Given the description of an element on the screen output the (x, y) to click on. 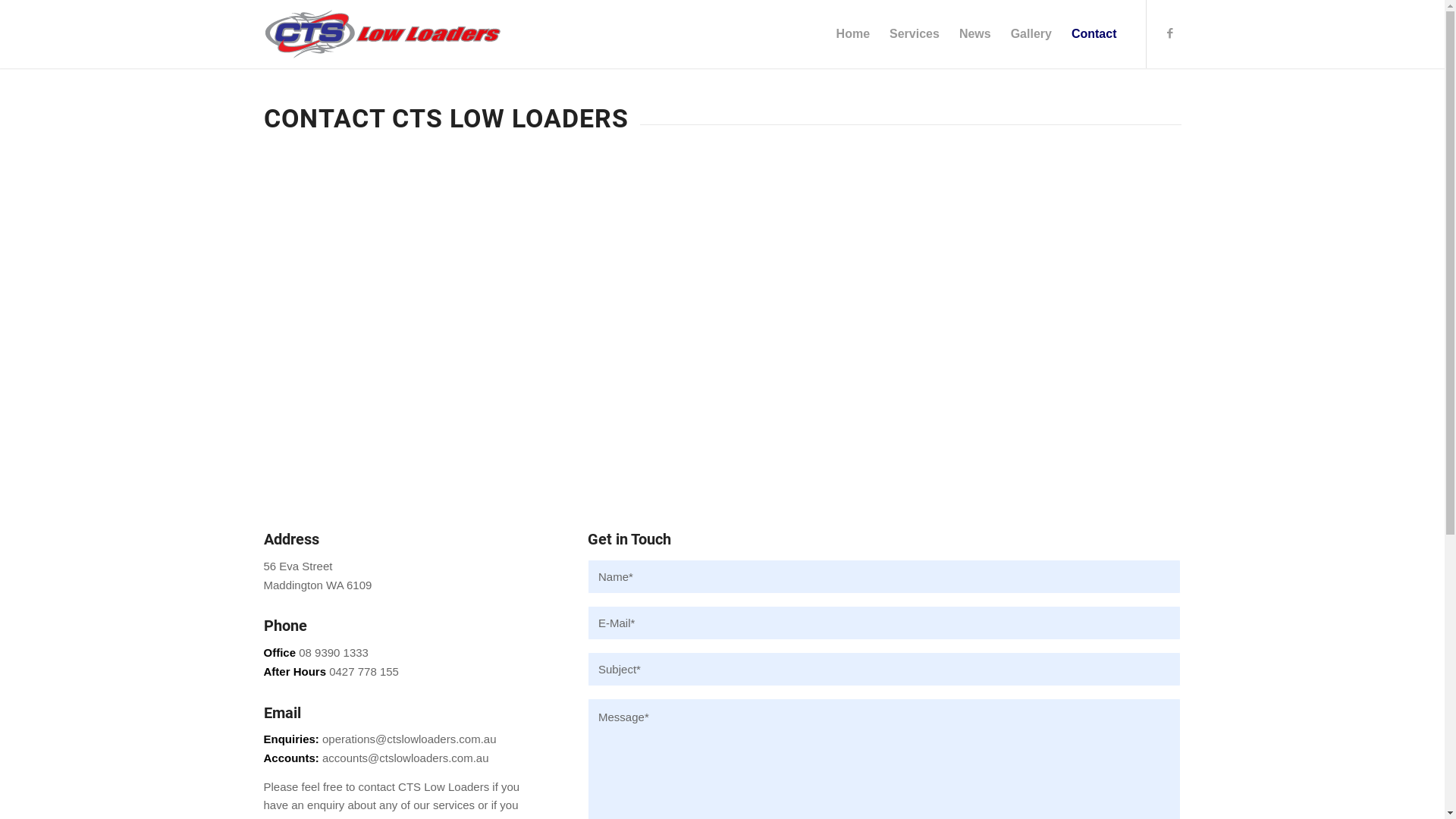
Home Element type: text (852, 34)
News Element type: text (975, 34)
Gallery Element type: text (1031, 34)
Services Element type: text (914, 34)
Facebook Element type: hover (1169, 32)
Contact Element type: text (1093, 34)
